Given the description of an element on the screen output the (x, y) to click on. 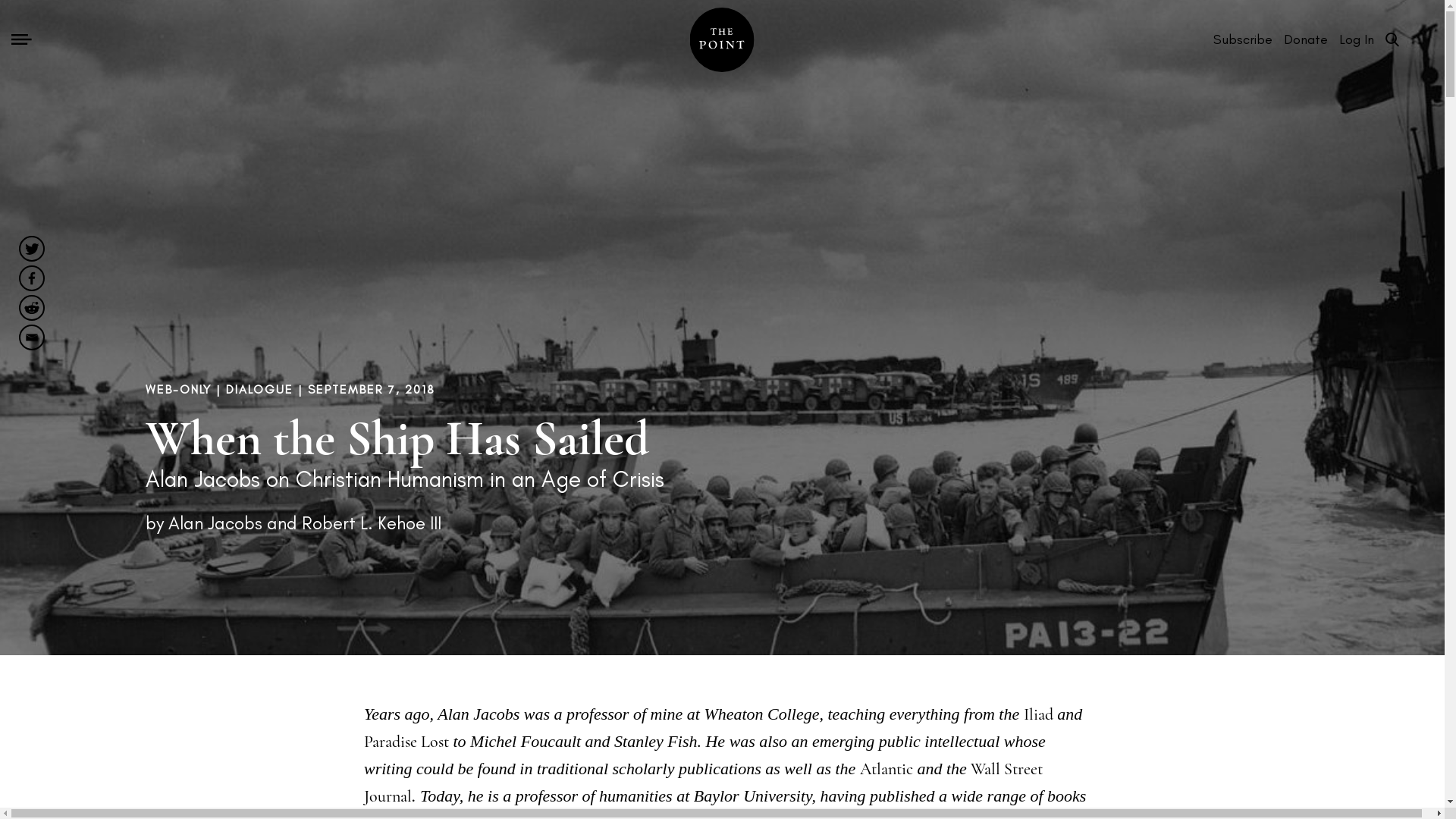
Posts by Alan Jacobs (215, 518)
Email (31, 337)
Posts by Robert L. Kehoe III (371, 518)
Facebook (31, 278)
Reddit (31, 307)
Twitter (31, 248)
